Given the description of an element on the screen output the (x, y) to click on. 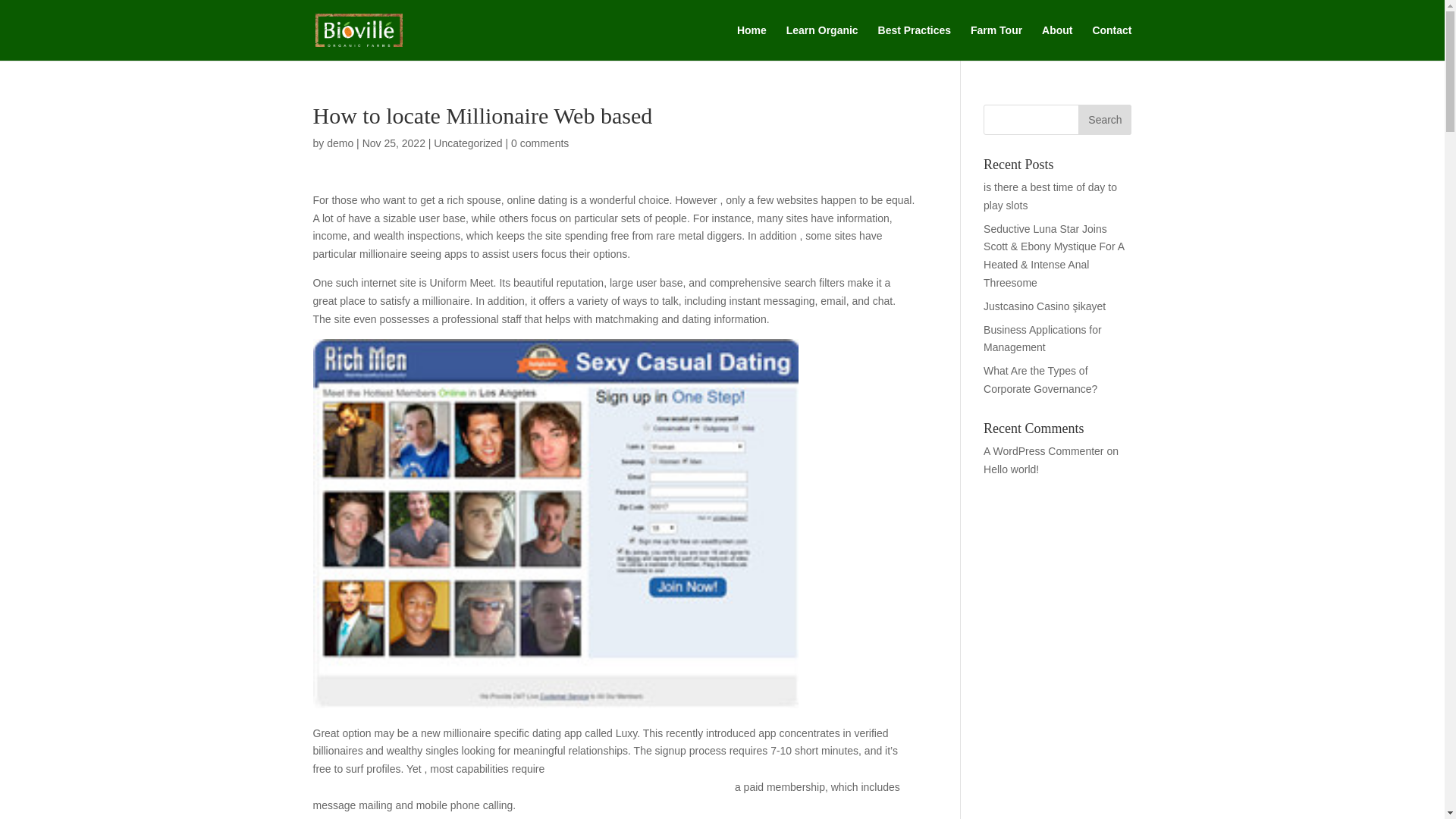
A WordPress Commenter (1043, 451)
Search (1104, 119)
Posts by demo (339, 143)
Business Applications for Management (1043, 338)
What Are the Types of Corporate Governance? (1040, 379)
Search (1104, 119)
Uncategorized (467, 143)
demo (339, 143)
is there a best time of day to play slots (1050, 195)
0 comments (540, 143)
